Given the description of an element on the screen output the (x, y) to click on. 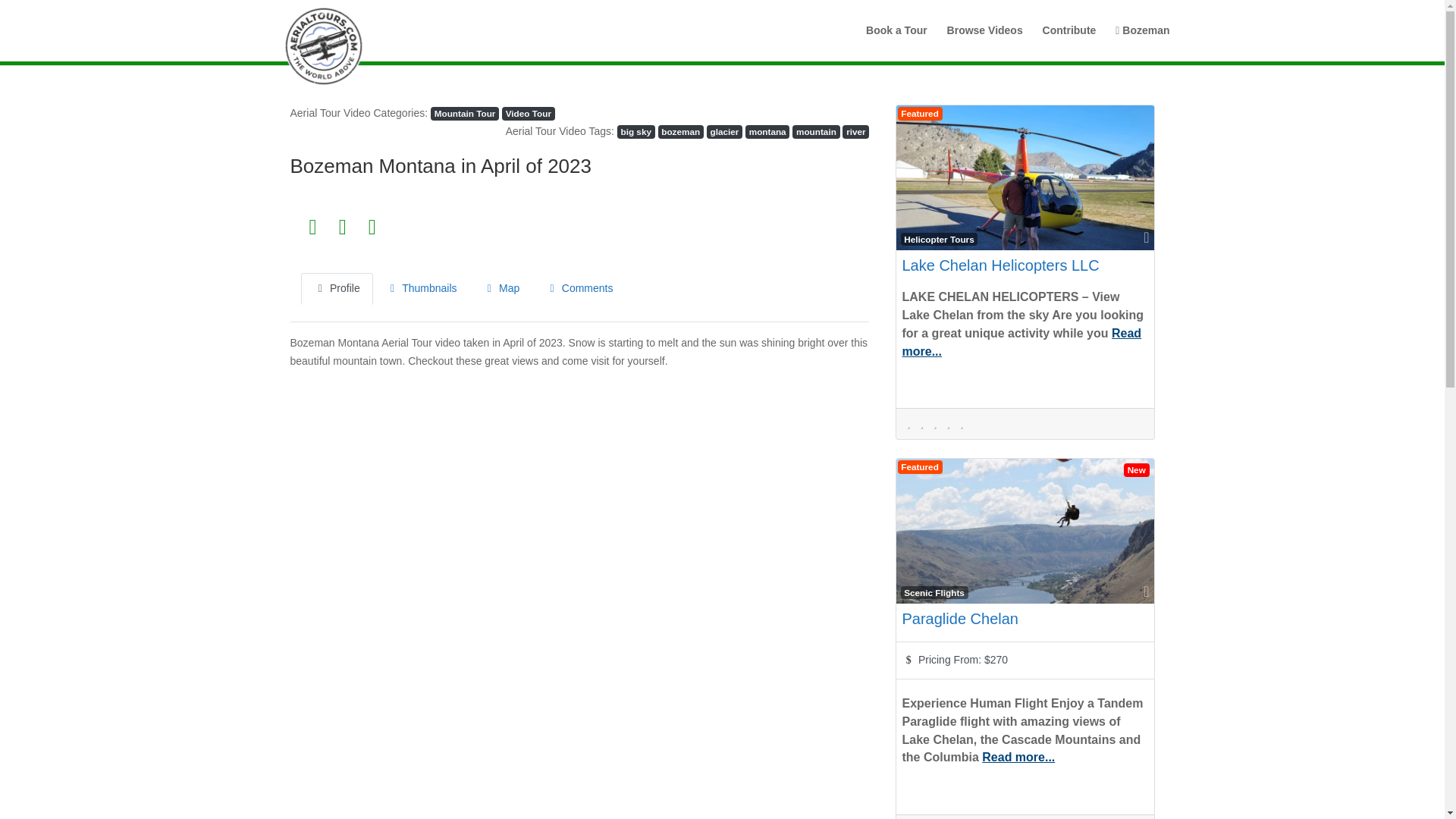
big sky (636, 131)
Profile (335, 288)
No rating yet! (935, 423)
Thumbnails (421, 288)
Thumbnails (421, 288)
Helicopter Tours (939, 239)
Map (501, 288)
montana (767, 131)
Video Tour (528, 113)
Comments (579, 288)
